Given the description of an element on the screen output the (x, y) to click on. 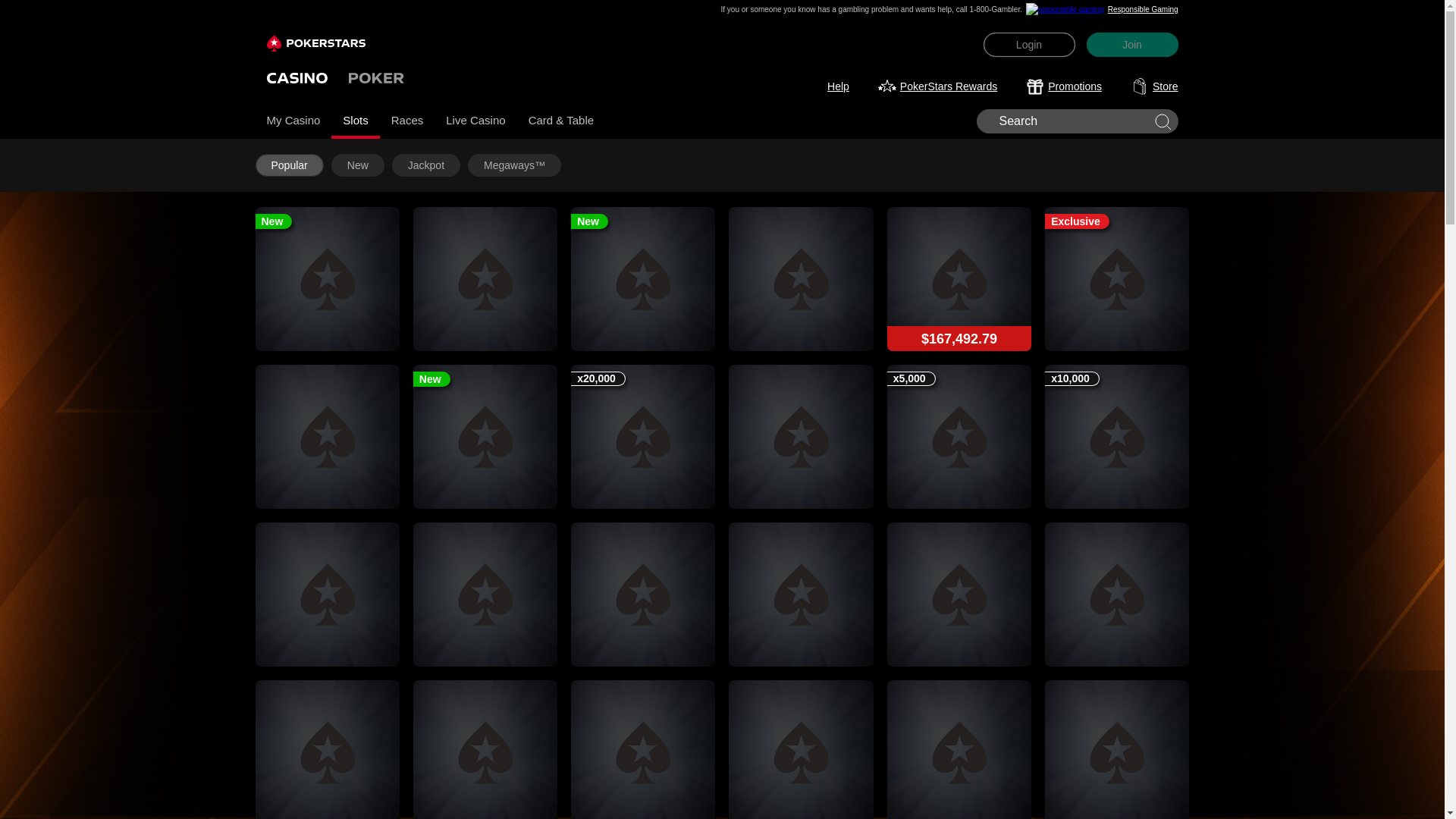
Poker (376, 77)
Live Casino (474, 121)
My Casino (292, 121)
Races (407, 121)
PokerStars Rewards (937, 85)
Promotions (1064, 85)
Jackpot (425, 164)
New (357, 164)
Casino (297, 77)
Join (1131, 44)
